Given the description of an element on the screen output the (x, y) to click on. 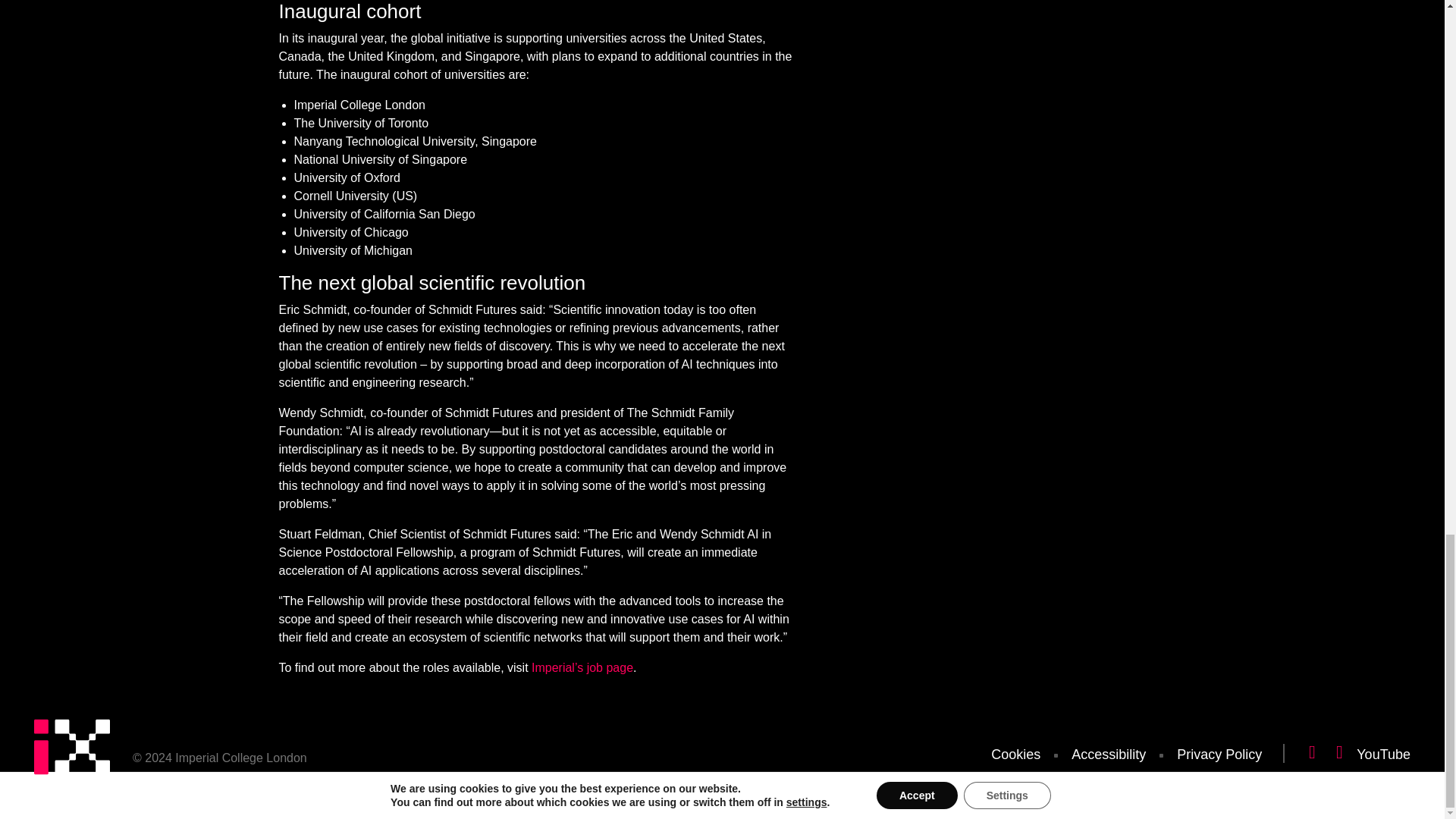
Imperial-X (71, 779)
Imperial-X (71, 750)
Accessibility (1108, 753)
Cookies (1015, 753)
Privacy Policy (1219, 753)
